Given the description of an element on the screen output the (x, y) to click on. 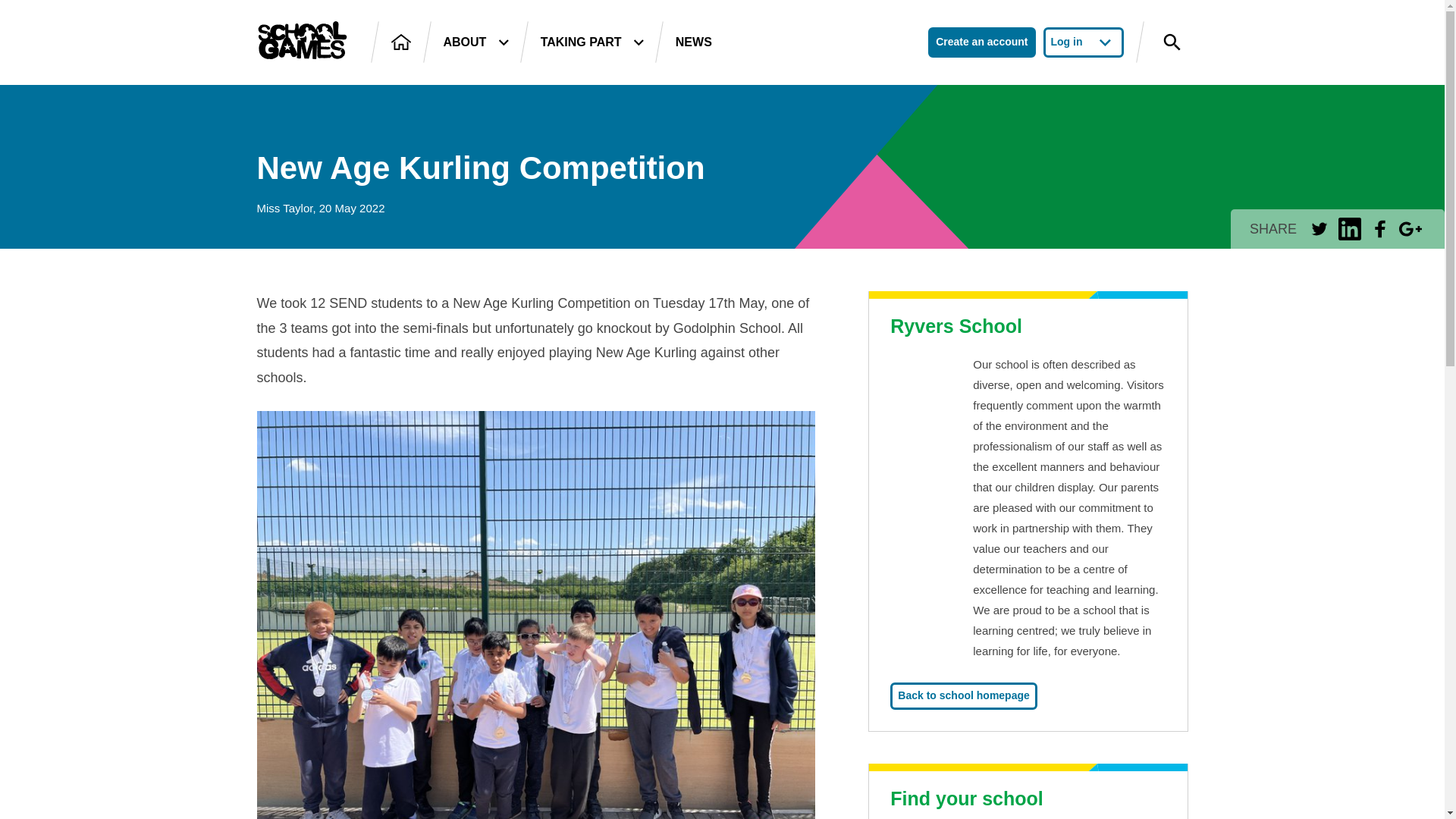
TAKING PART (591, 42)
ABOUT (474, 42)
Create an account (981, 42)
